Given the description of an element on the screen output the (x, y) to click on. 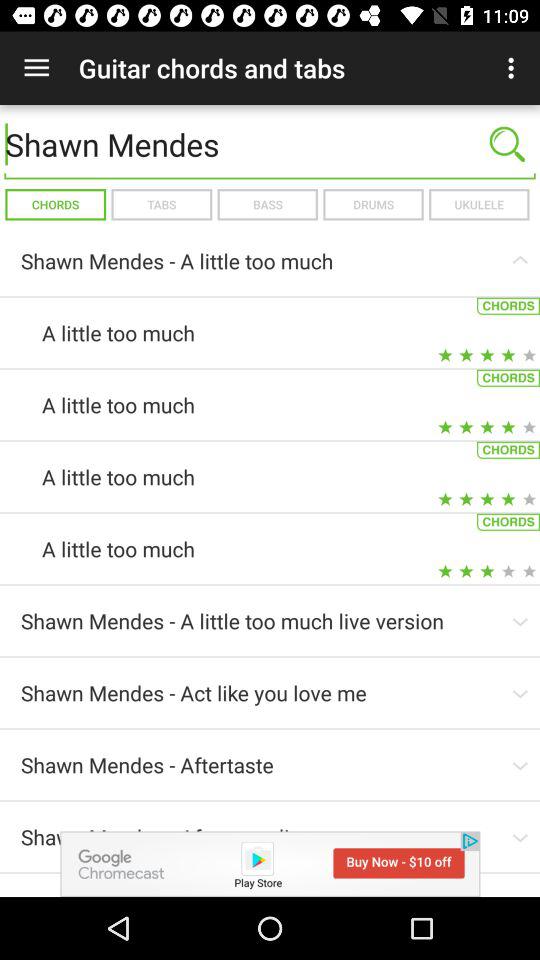
select icon next to the ukulele item (373, 204)
